Given the description of an element on the screen output the (x, y) to click on. 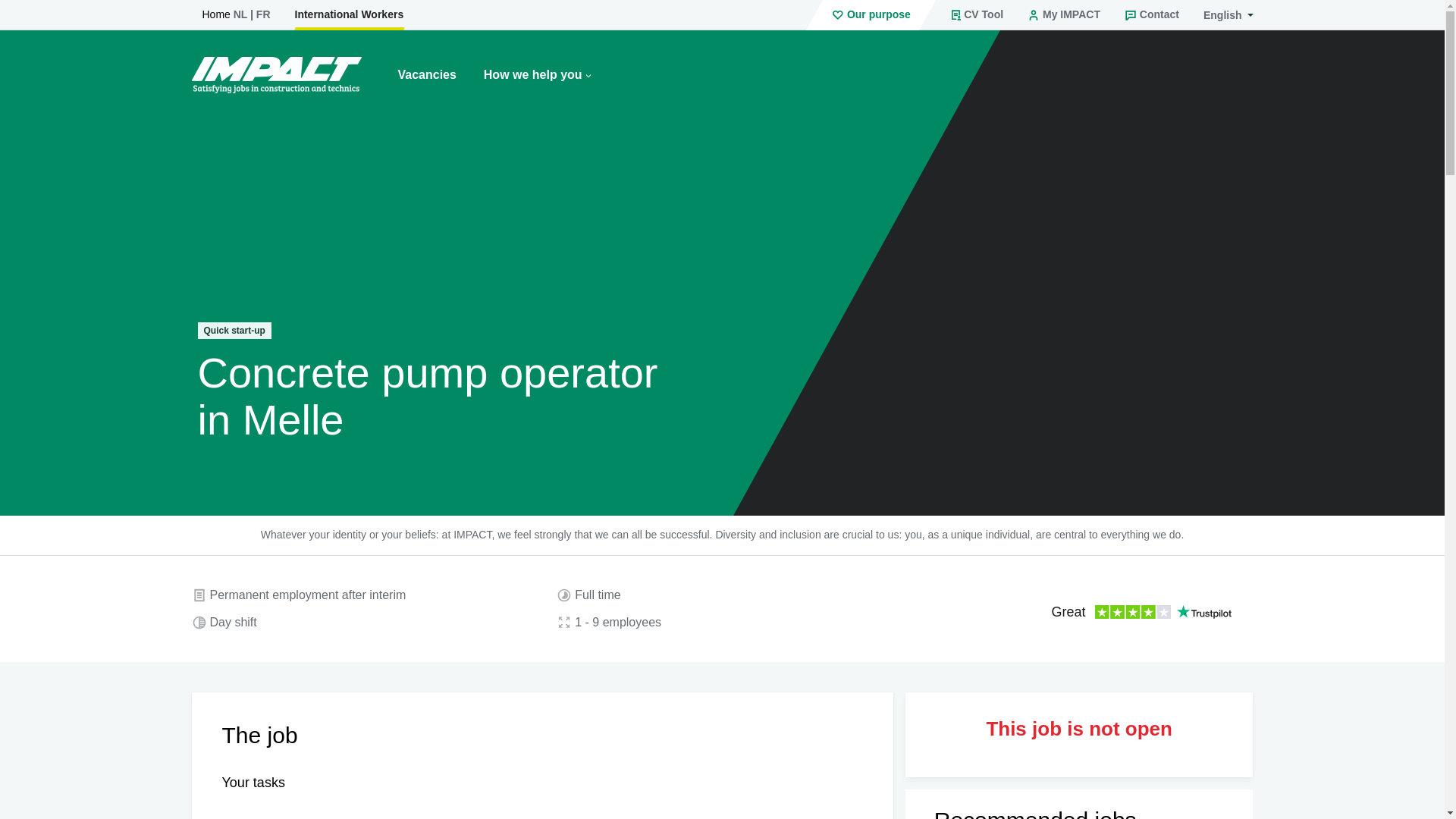
Customer reviews powered by Trustpilot (1141, 613)
Refresh (28, 110)
